Given the description of an element on the screen output the (x, y) to click on. 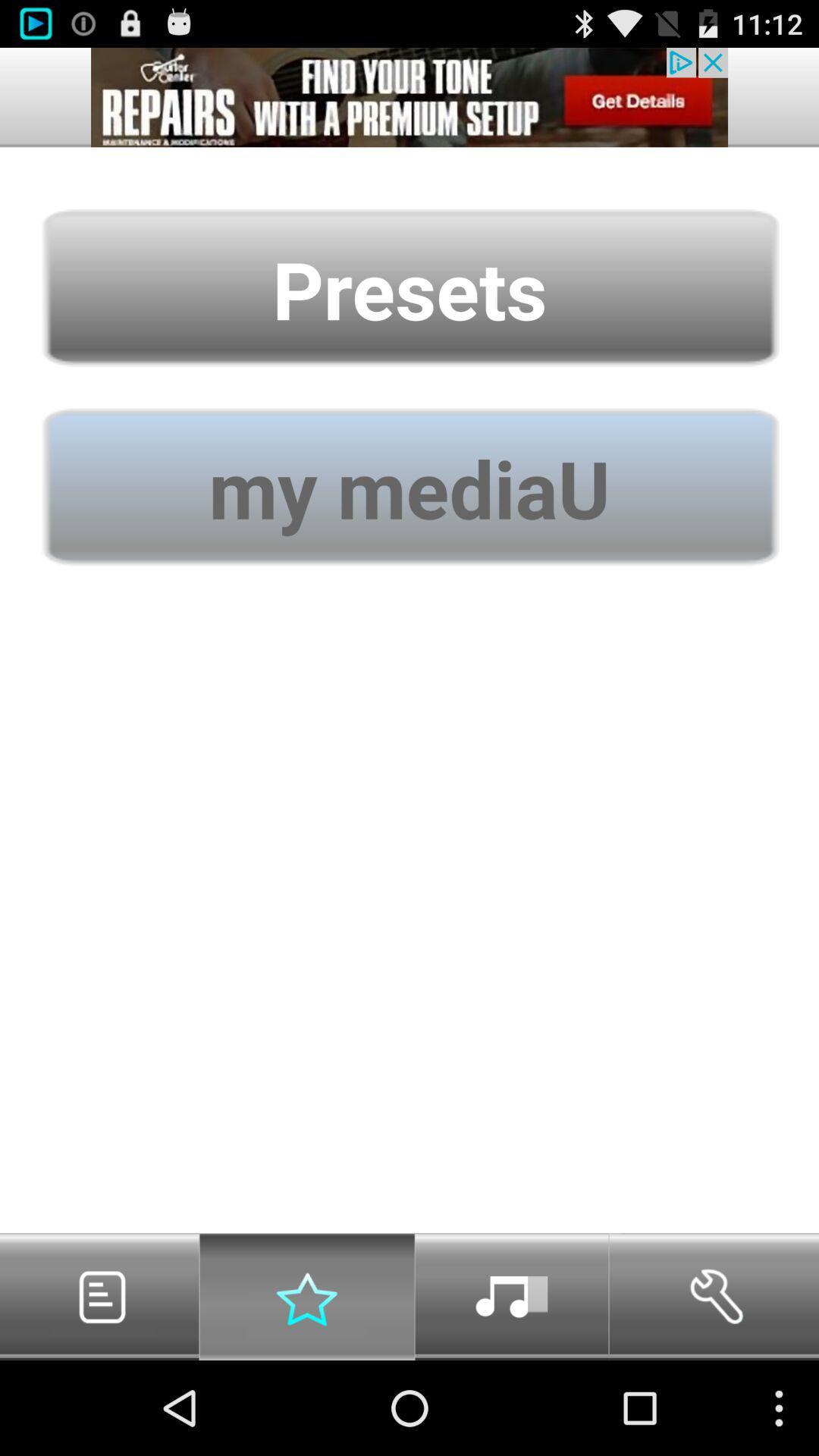
for add (409, 97)
